Given the description of an element on the screen output the (x, y) to click on. 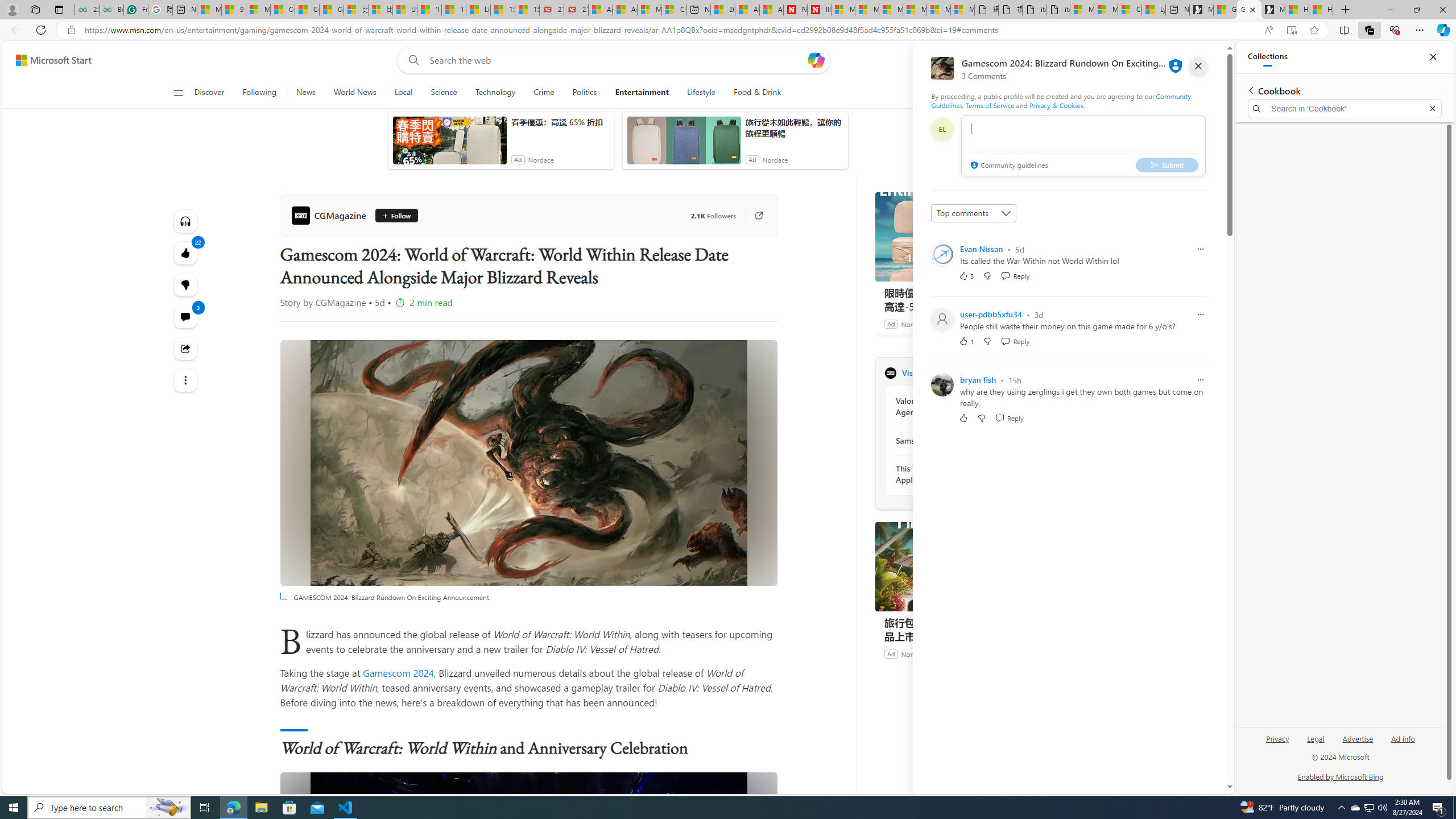
Community guidelines (1008, 165)
Profile Picture (941, 384)
25 Basic Linux Commands For Beginners - GeeksforGeeks (86, 9)
Gamescom 2024 (397, 672)
